Given the description of an element on the screen output the (x, y) to click on. 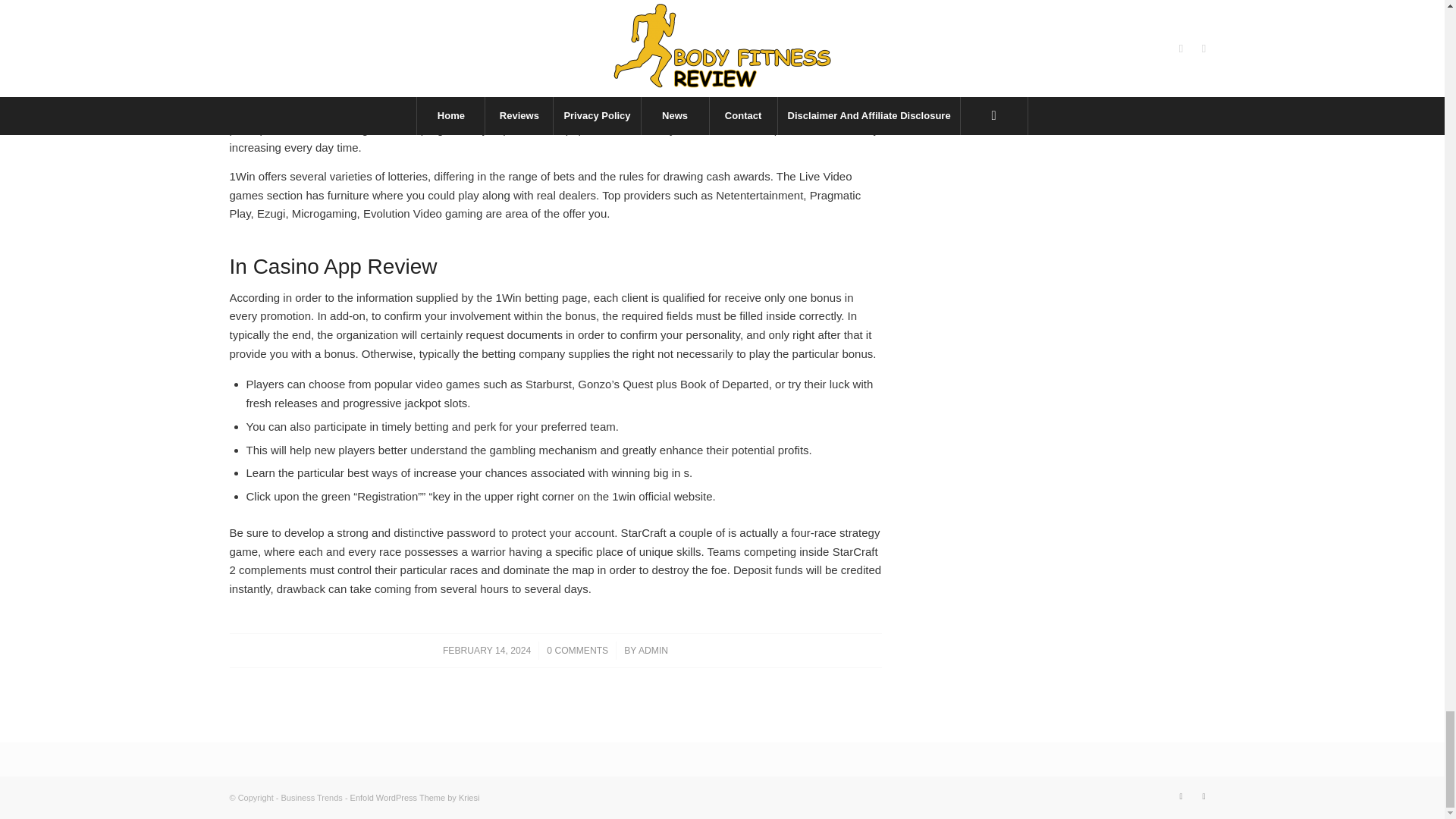
Posts by admin (653, 650)
Dribbble (1203, 795)
Twitter (1180, 795)
